Given the description of an element on the screen output the (x, y) to click on. 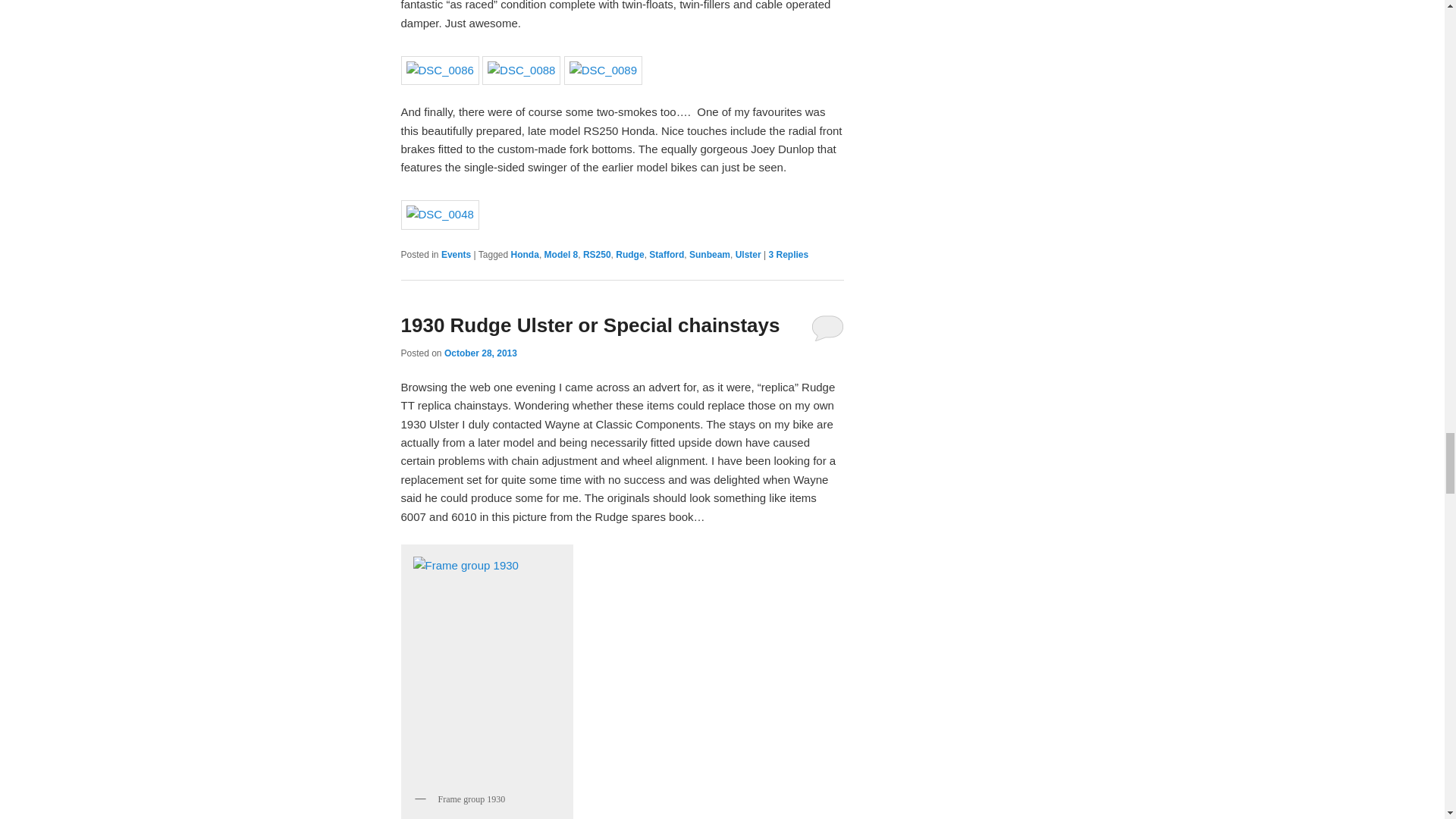
8:22 pm (480, 352)
